Given the description of an element on the screen output the (x, y) to click on. 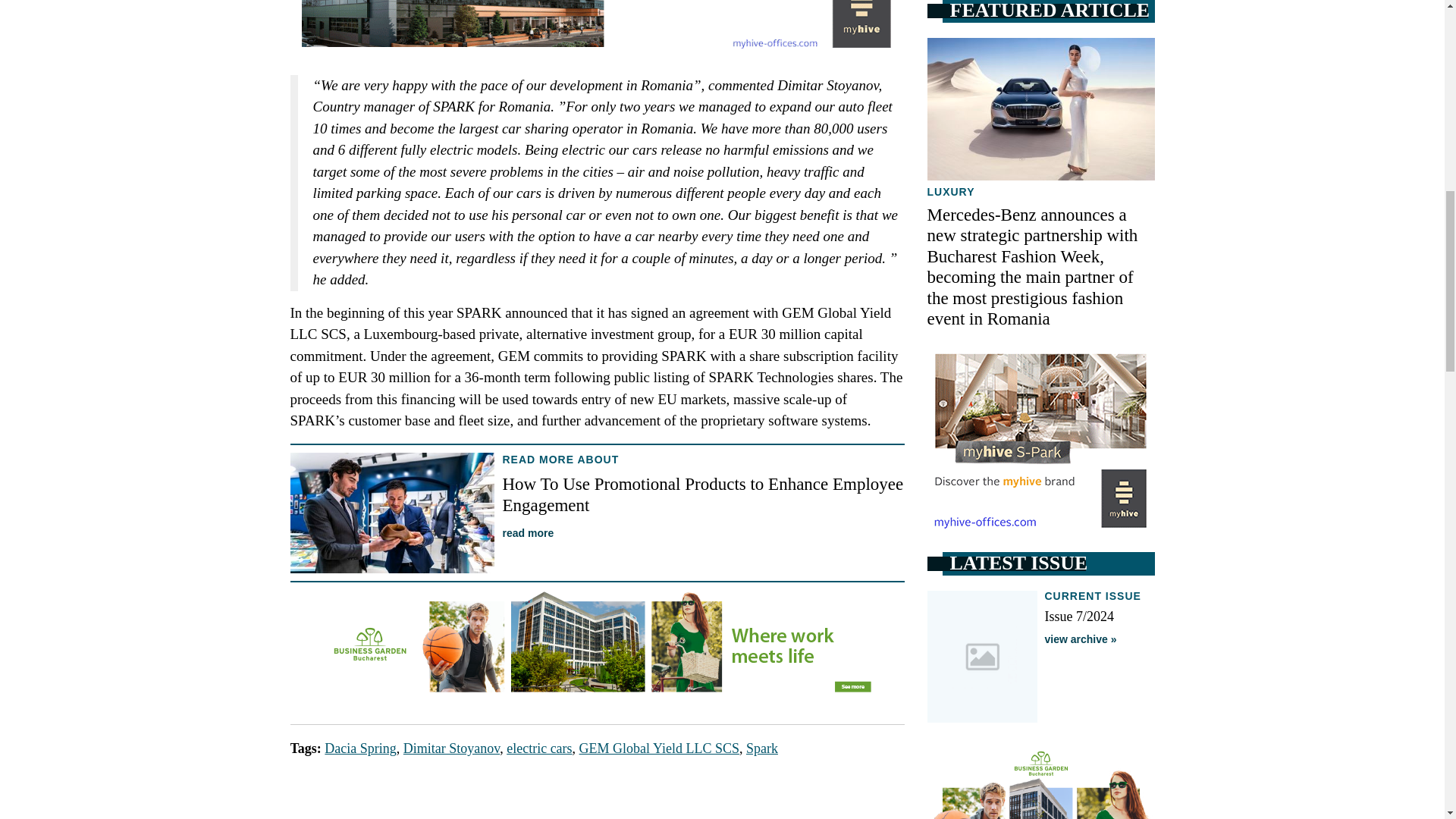
electric cars (539, 748)
Spark (761, 748)
read more (527, 532)
Dimitar Stoyanov (451, 748)
GEM Global Yield LLC SCS (659, 748)
Dacia Spring (360, 748)
